Given the description of an element on the screen output the (x, y) to click on. 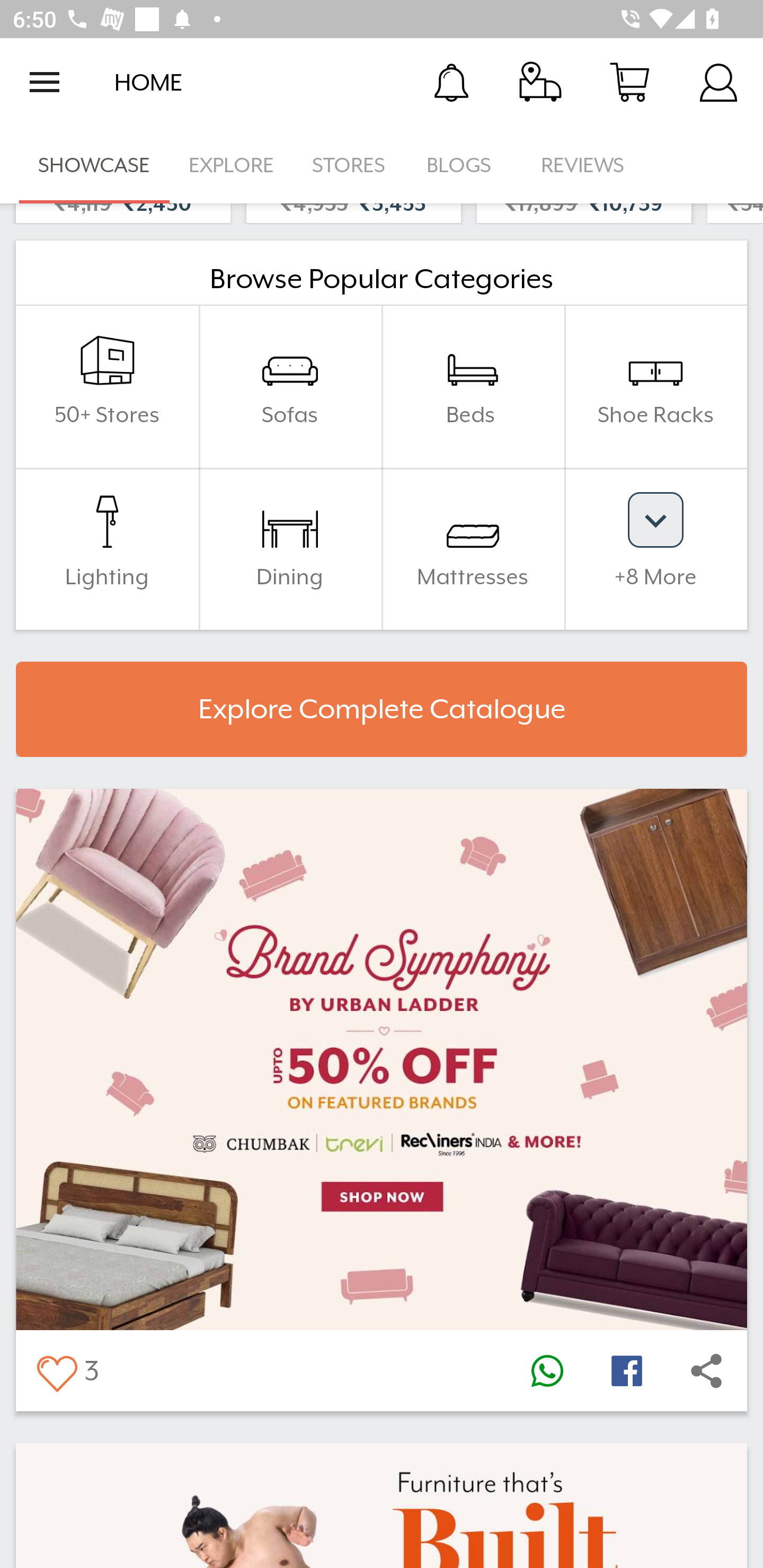
Open navigation drawer (44, 82)
Notification (450, 81)
Track Order (540, 81)
Cart (629, 81)
Account Details (718, 81)
SHOWCASE (94, 165)
EXPLORE (230, 165)
STORES (349, 165)
BLOGS (464, 165)
REVIEWS (582, 165)
50+ Stores (106, 386)
Sofas (289, 386)
Beds  (473, 386)
Shoe Racks (655, 386)
Lighting (106, 548)
Dining (289, 548)
Mattresses (473, 548)
 +8 More (655, 548)
Explore Complete Catalogue (381, 709)
 (55, 1370)
 (547, 1370)
 (626, 1370)
 (706, 1370)
